Given the description of an element on the screen output the (x, y) to click on. 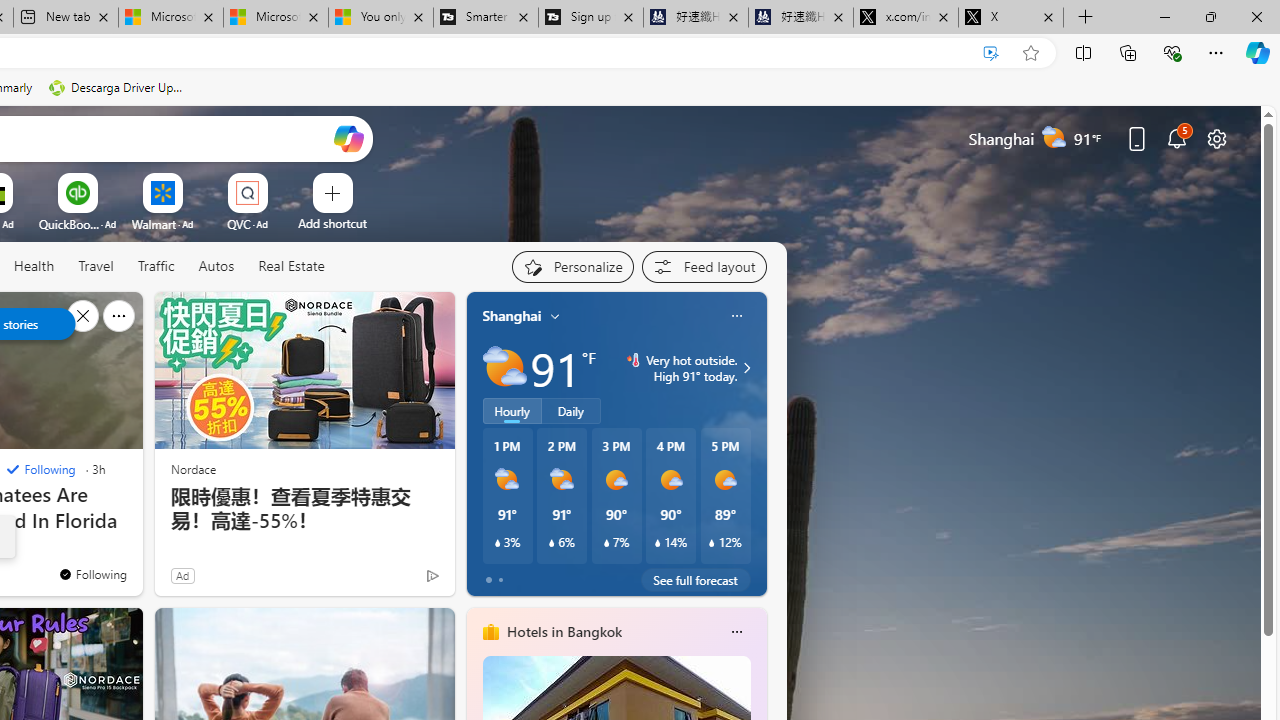
You're following The Weather Channel (92, 573)
Shanghai (511, 315)
My location (555, 315)
Autos (216, 267)
Feed settings (703, 266)
Travel (95, 267)
next (756, 443)
